Given the description of an element on the screen output the (x, y) to click on. 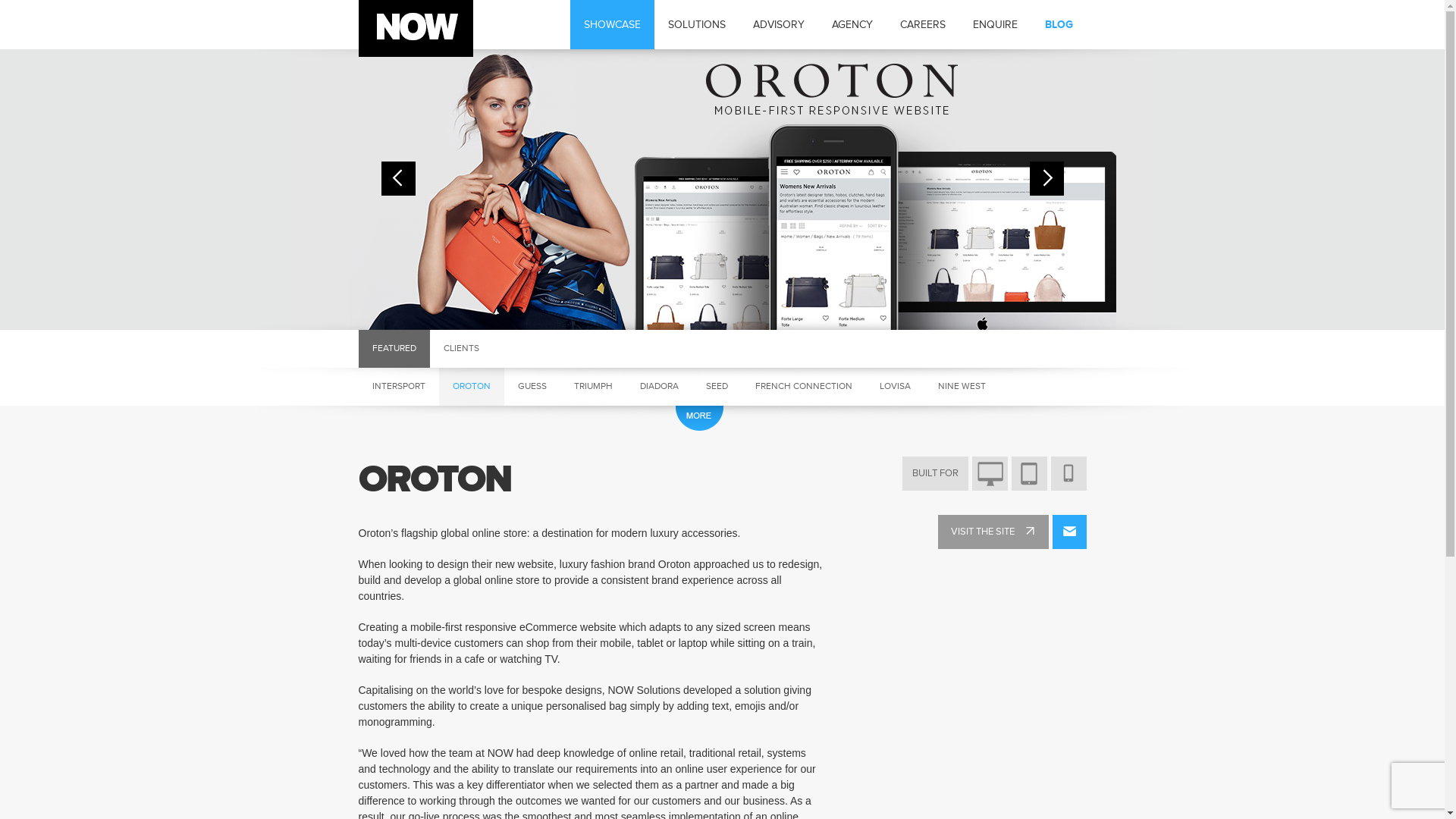
ADVISORY Element type: text (777, 24)
NINE WEST Element type: text (960, 386)
Email NOW Element type: text (1069, 531)
FRENCH CONNECTION Element type: text (803, 386)
SOLUTIONS Element type: text (695, 24)
AGENCY Element type: text (851, 24)
SHOWCASE Element type: text (612, 24)
Next Element type: text (1046, 178)
INTERSPORT Element type: text (397, 386)
VISIT THE SITE Element type: text (992, 531)
LOVISA Element type: text (895, 386)
BLOG Element type: text (1058, 24)
ENQUIRE Element type: text (994, 24)
SEED Element type: text (715, 386)
DIADORA Element type: text (659, 386)
TRIUMPH Element type: text (592, 386)
CLIENTS Element type: text (460, 348)
CAREERS Element type: text (921, 24)
OROTON Element type: text (470, 386)
MORE Element type: text (698, 417)
Prev Element type: text (397, 178)
FEATURED Element type: text (393, 348)
GUESS Element type: text (531, 386)
